Given the description of an element on the screen output the (x, y) to click on. 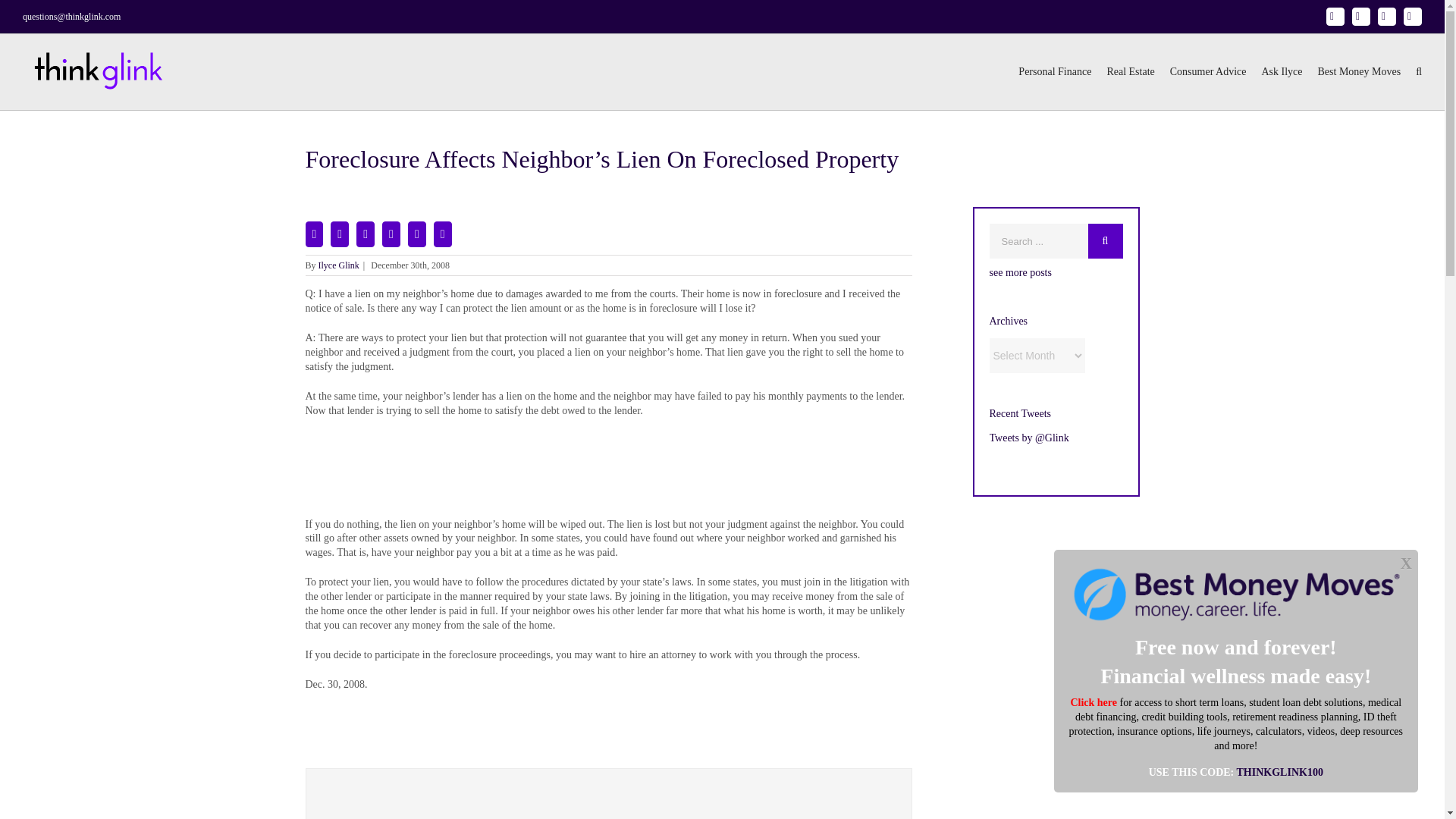
Linkedin (1386, 16)
Facebook (1361, 16)
Youtube (1412, 16)
Youtube (1412, 16)
Best Money Moves (1358, 71)
Linkedin (1386, 16)
Facebook (1361, 16)
Consumer Advice (1208, 71)
Personal Finance (1053, 71)
Posts by Ilyce Glink (338, 265)
